Given the description of an element on the screen output the (x, y) to click on. 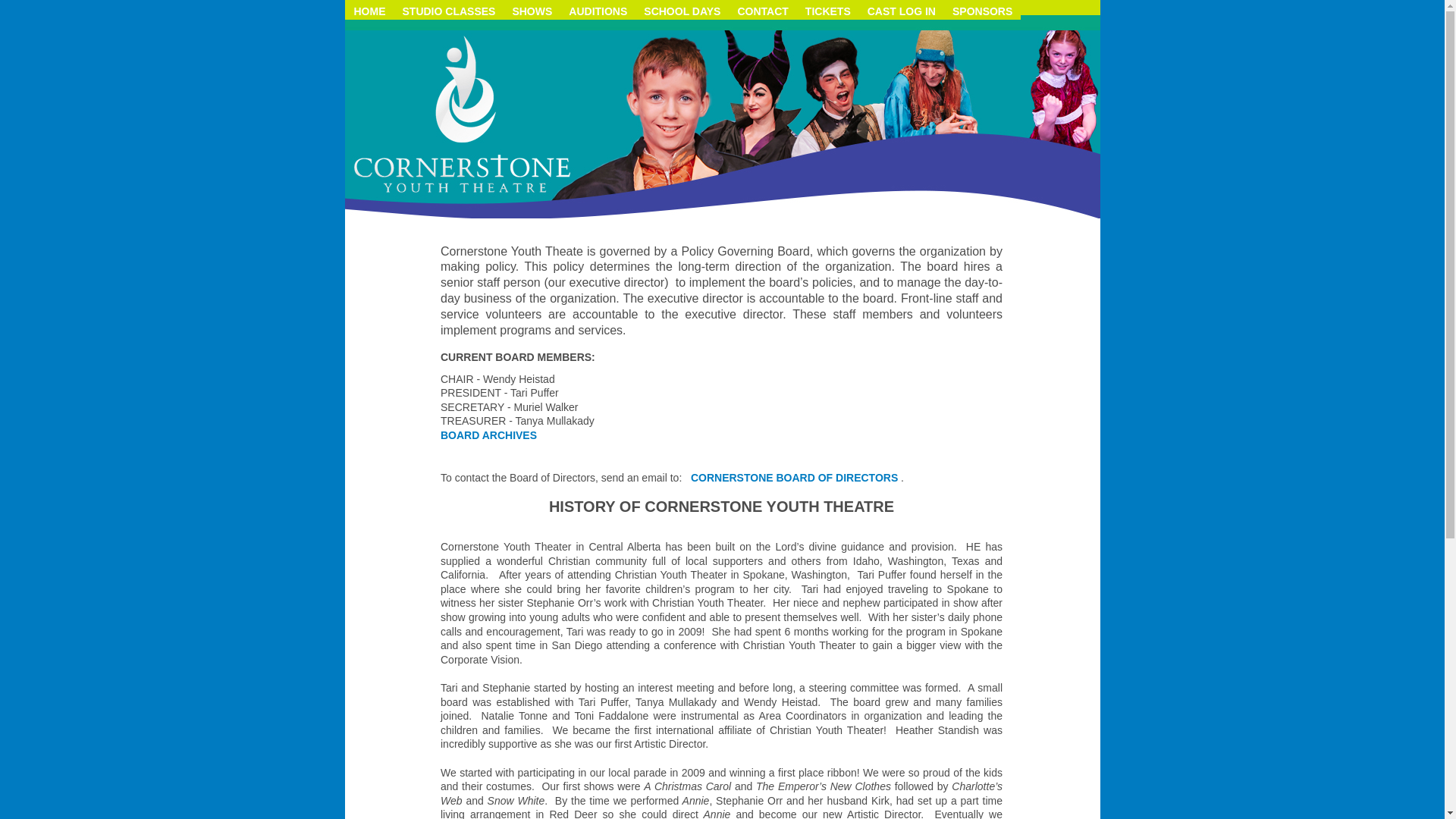
CAST LOG IN (901, 9)
SHOWS (531, 9)
SPONSORS (981, 9)
HOME (370, 9)
BOARD ARCHIVES (489, 435)
SCHOOL DAYS (681, 9)
CORNERSTONE BOARD OF DIRECTORS (794, 477)
STUDIO CLASSES (448, 9)
TICKETS (827, 9)
CONTACT (762, 9)
